Given the description of an element on the screen output the (x, y) to click on. 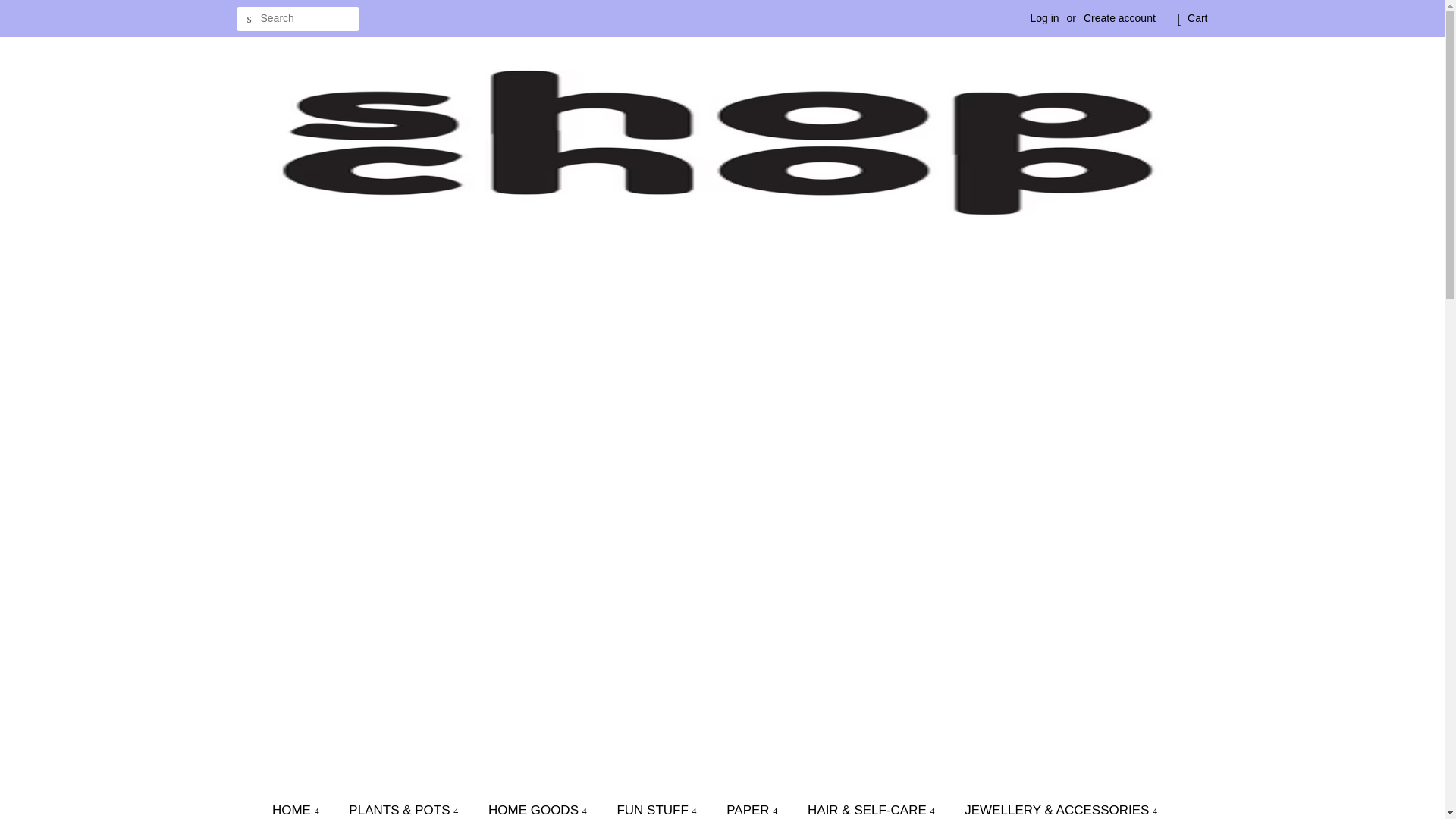
Cart (1197, 18)
SEARCH (247, 18)
Create account (1119, 18)
Log in (1043, 18)
